Given the description of an element on the screen output the (x, y) to click on. 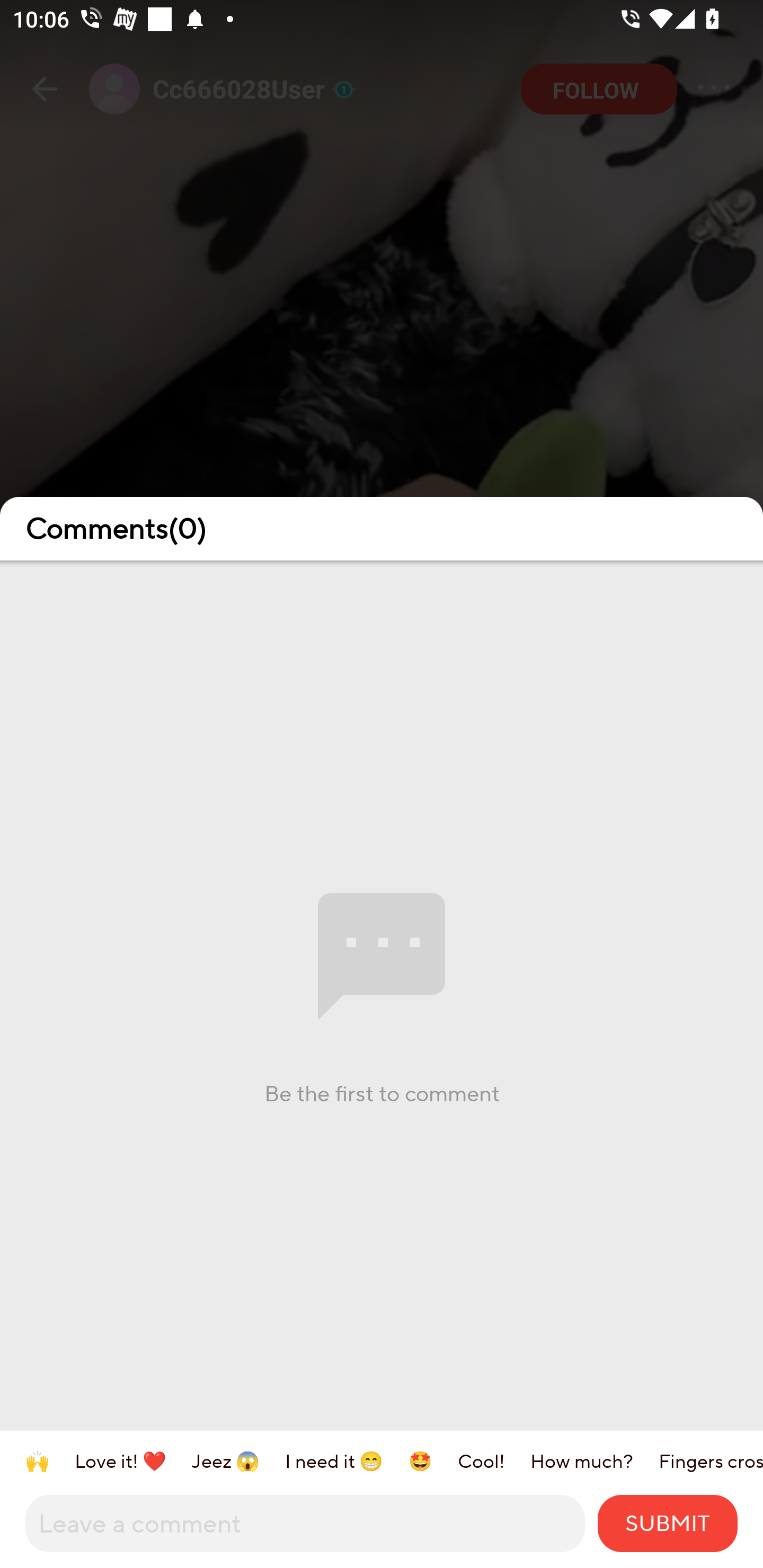
🙌 (49, 1461)
Love it! ❤️ (132, 1461)
Jeez 😱 (238, 1461)
I need it 😁 (346, 1461)
🤩 (432, 1461)
Cool! (493, 1461)
How much? (594, 1461)
Fingers crossed 🤞 (710, 1461)
Leave a comment (305, 1523)
SUBMIT (667, 1523)
